Given the description of an element on the screen output the (x, y) to click on. 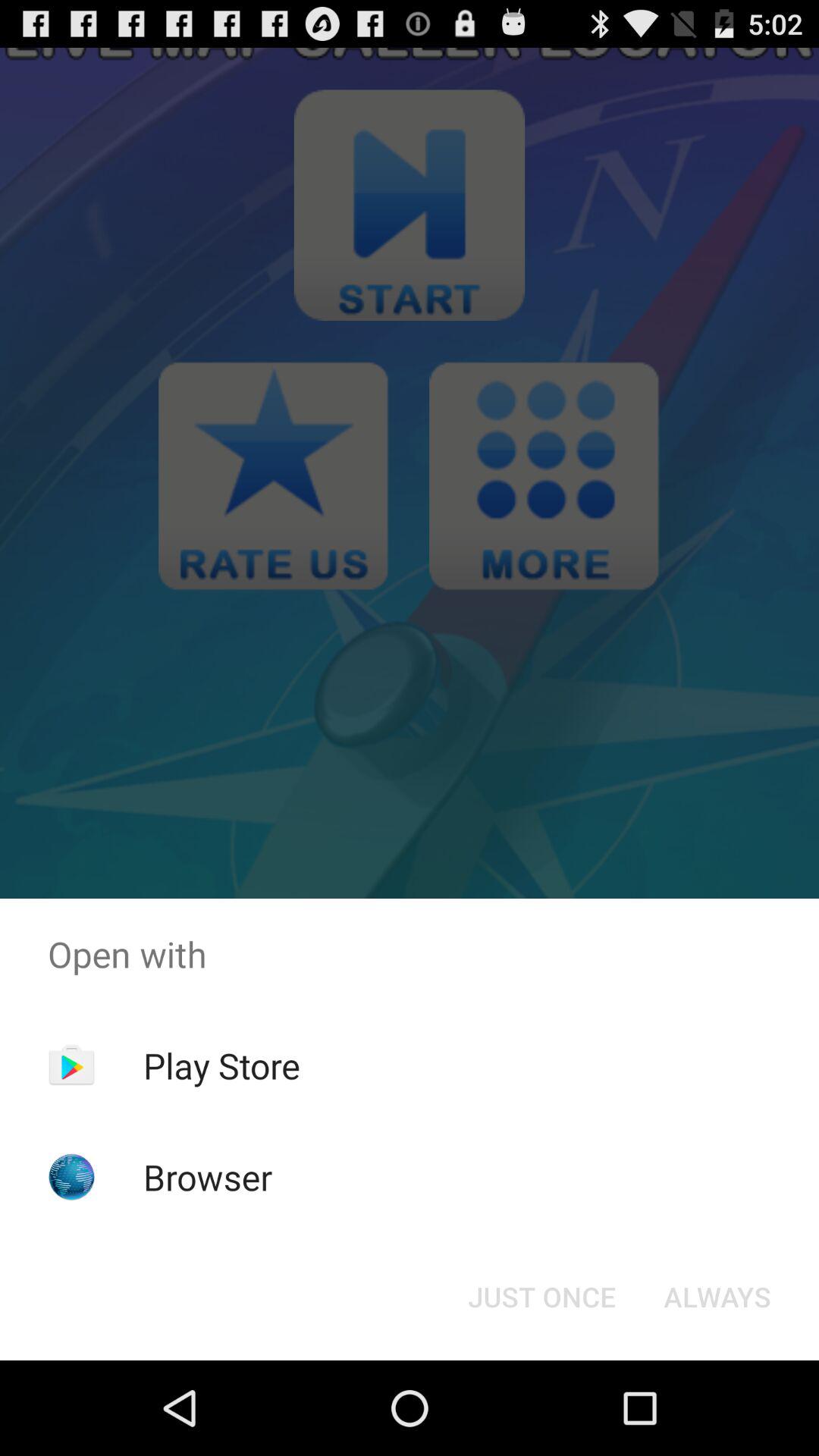
jump until the just once item (541, 1296)
